Given the description of an element on the screen output the (x, y) to click on. 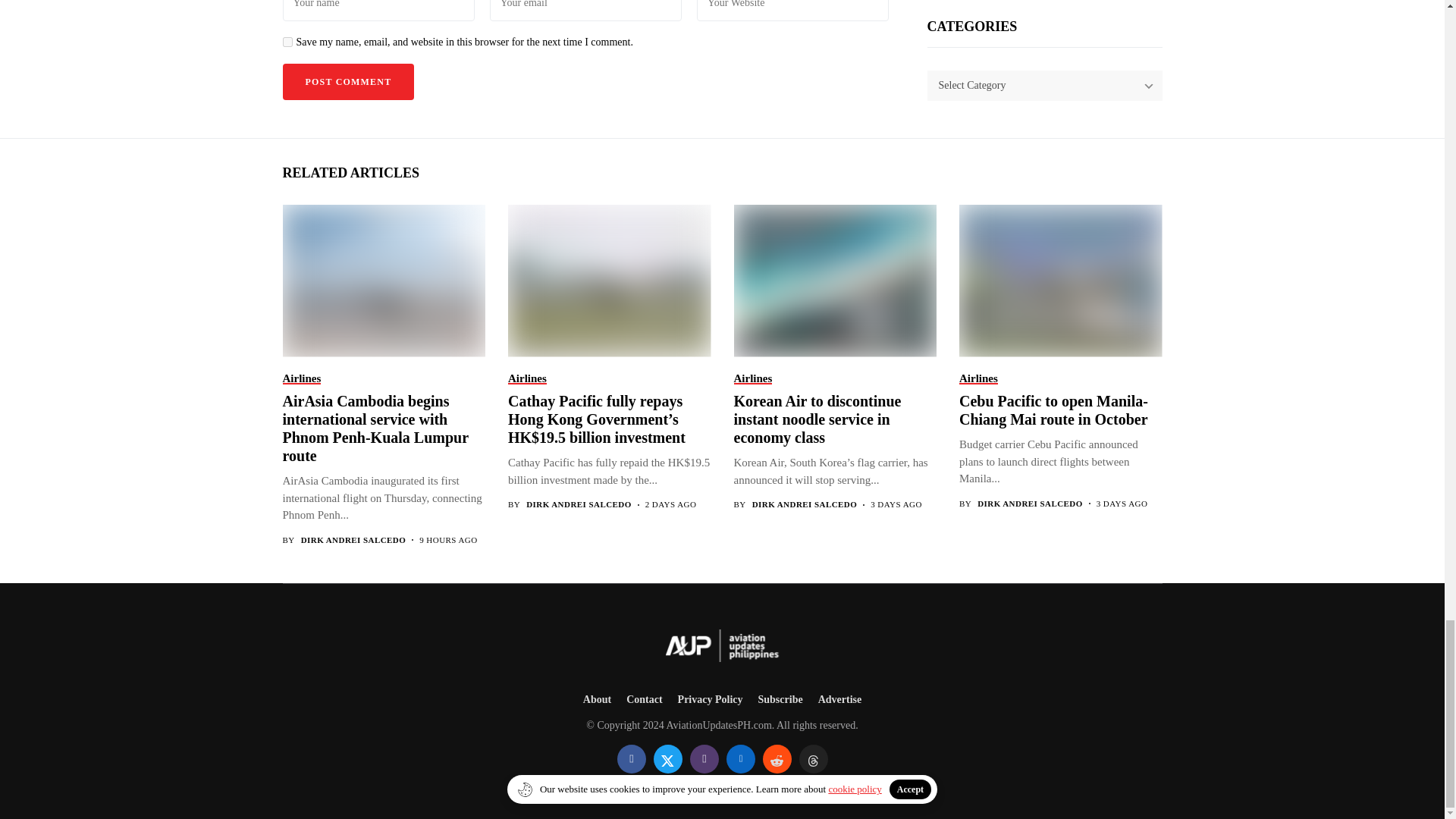
Posts by Dirk Andrei Salcedo (804, 504)
Posts by Dirk Andrei Salcedo (353, 540)
Post Comment (347, 81)
Posts by Dirk Andrei Salcedo (1029, 503)
yes (287, 41)
Posts by Dirk Andrei Salcedo (578, 504)
